Given the description of an element on the screen output the (x, y) to click on. 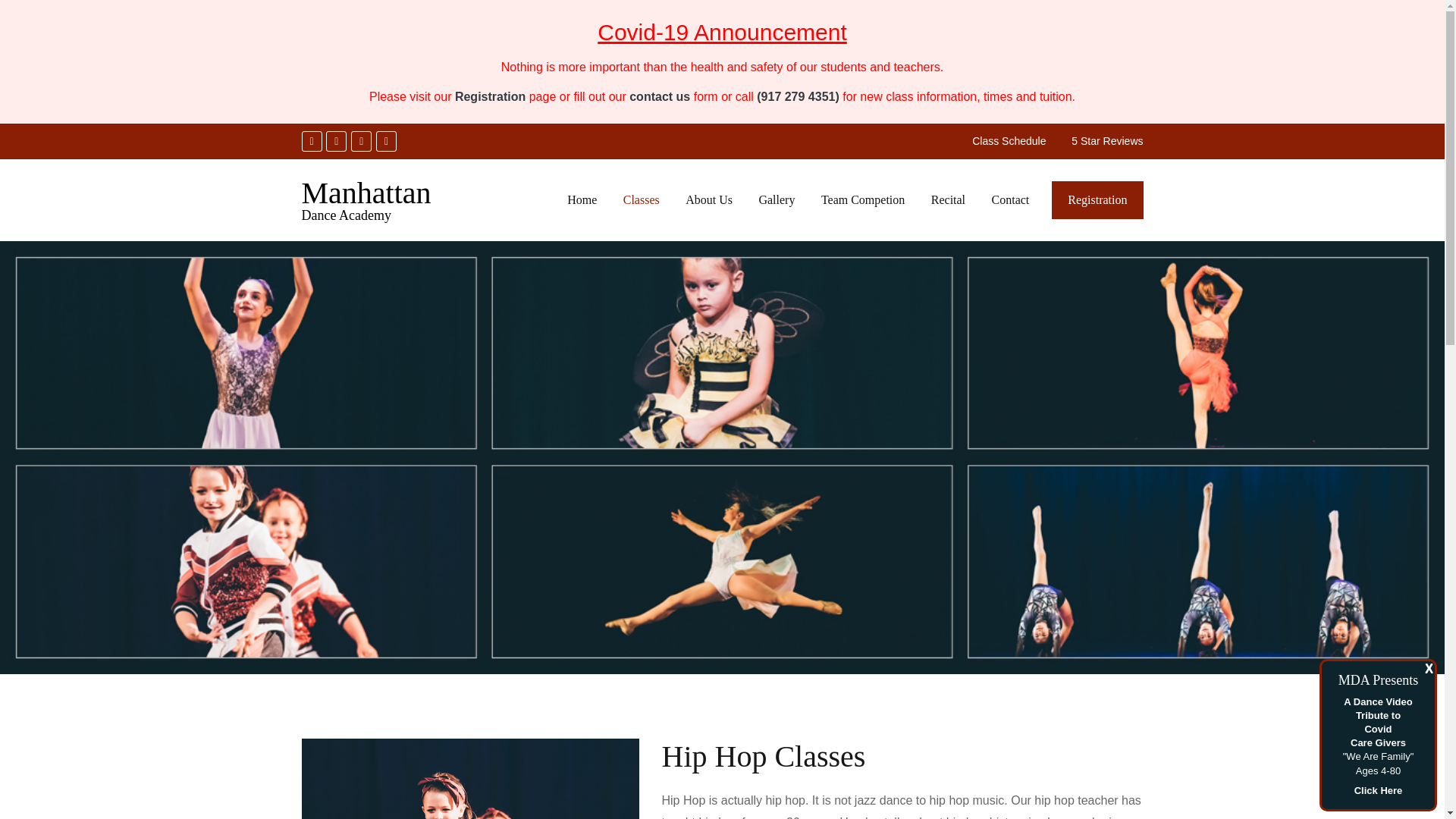
Registration (1096, 199)
Contact (1010, 199)
Gallery (776, 199)
contact us (659, 96)
About Us (708, 199)
Team Competion (862, 199)
Class Schedule (1008, 141)
5 Star Reviews (1106, 141)
Classes (641, 199)
Registration (489, 96)
